Given the description of an element on the screen output the (x, y) to click on. 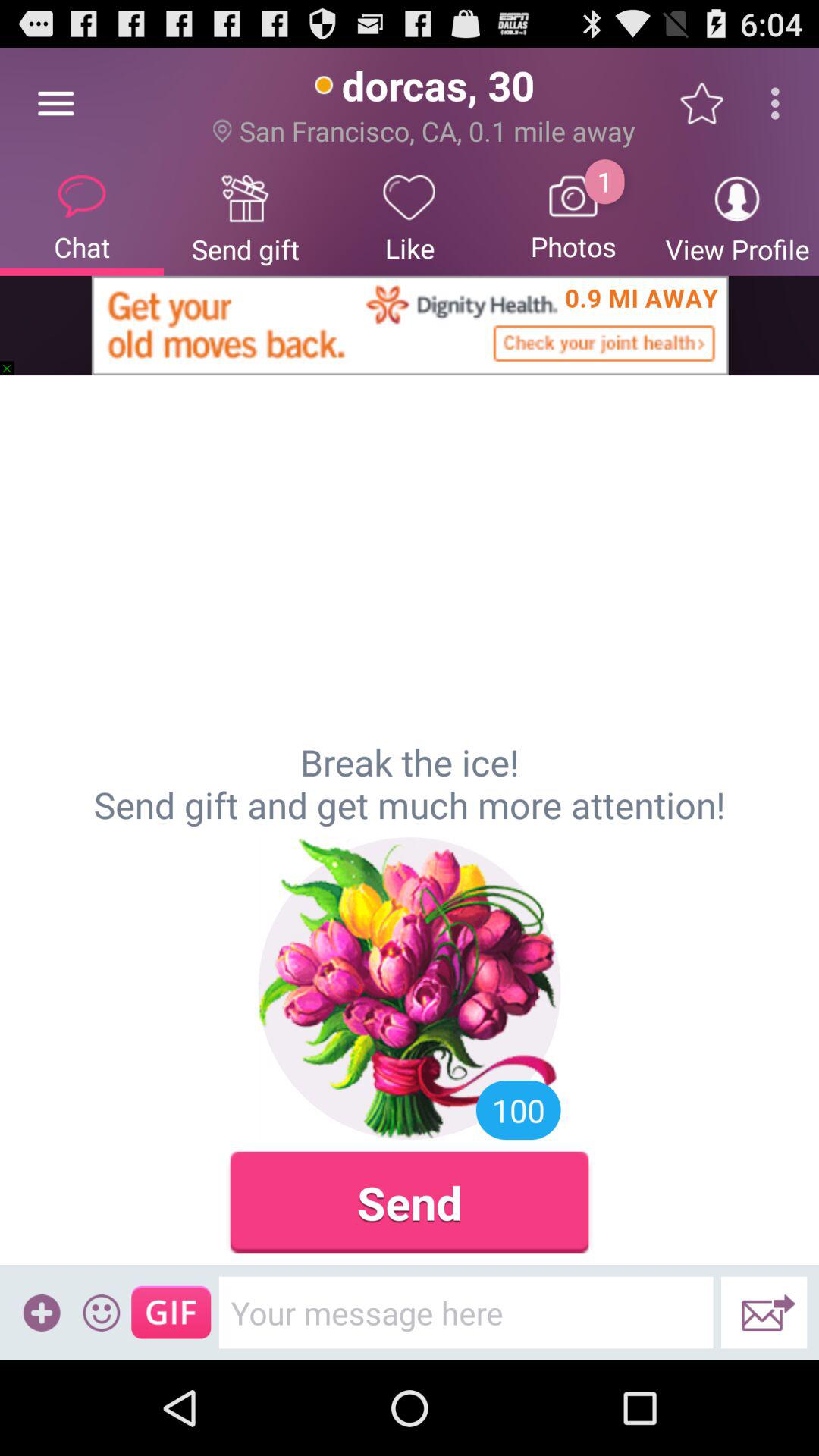
launch item next to send gift icon (55, 103)
